Given the description of an element on the screen output the (x, y) to click on. 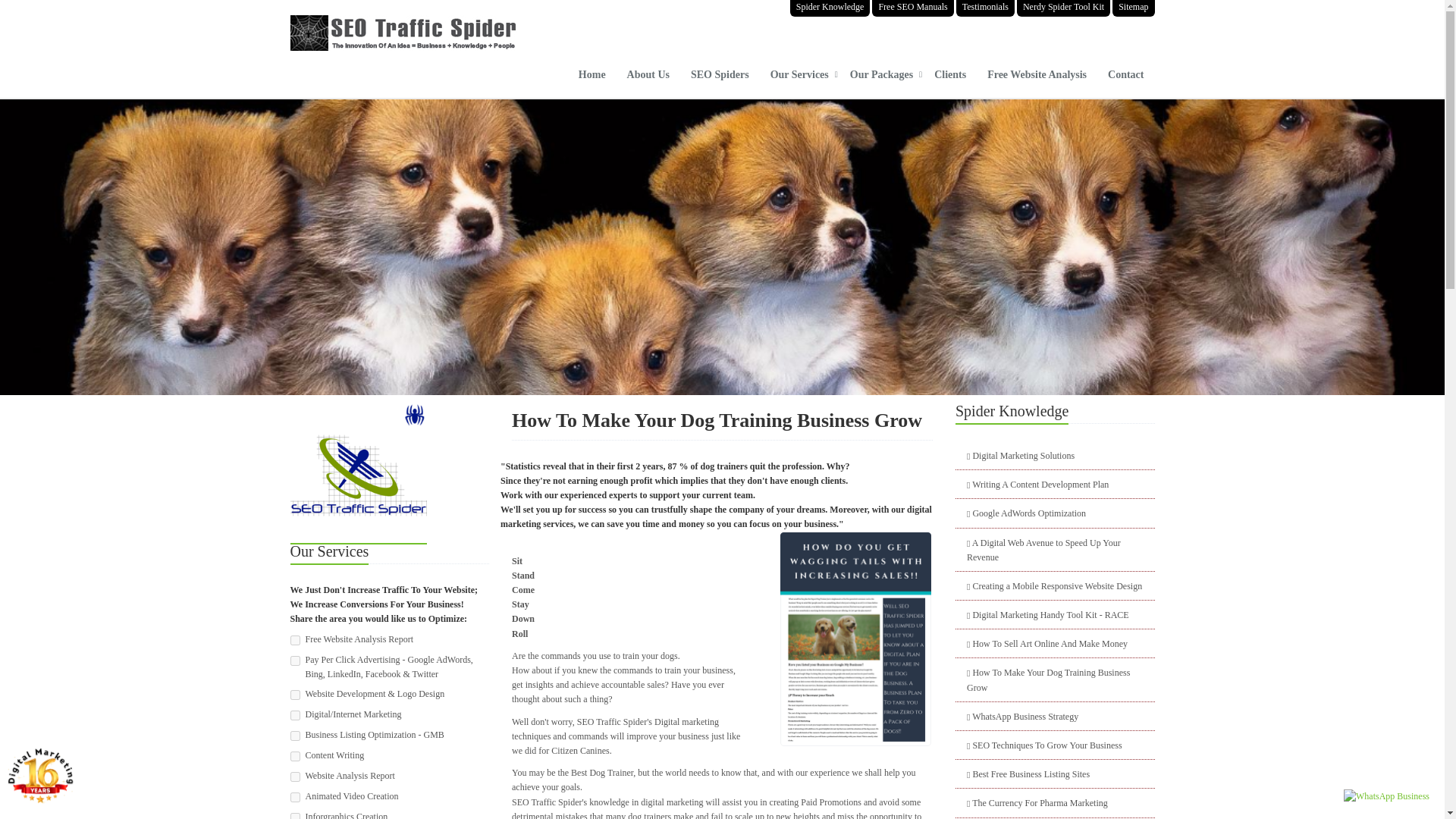
Business Listing Optimization - GMB (294, 736)
Sitemap (1133, 8)
SEO Spiders (719, 79)
Free SEO Manuals (912, 8)
Competitor Analysis Submission (294, 660)
Free Website Analysis Report (294, 640)
Nerdy Spider Tool Kit (1062, 8)
Our Packages (881, 79)
Website Analysis Report (294, 777)
Contact (1125, 79)
Inforgraphics Creation (294, 816)
Our Services (800, 79)
Animated Video Creation (294, 797)
Spider Knowledge (830, 8)
Clients (949, 79)
